Given the description of an element on the screen output the (x, y) to click on. 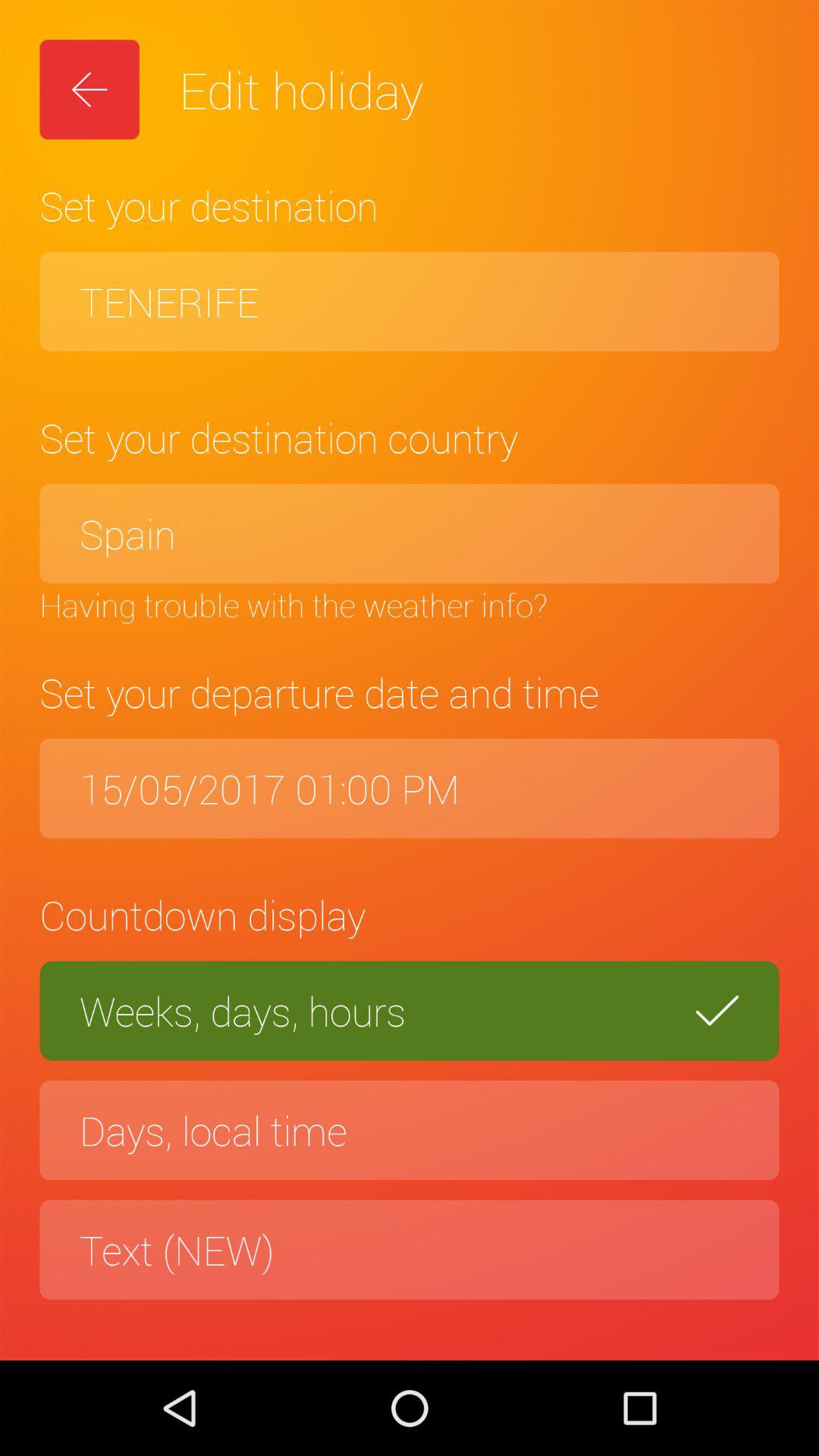
swipe to the spain icon (409, 533)
